Given the description of an element on the screen output the (x, y) to click on. 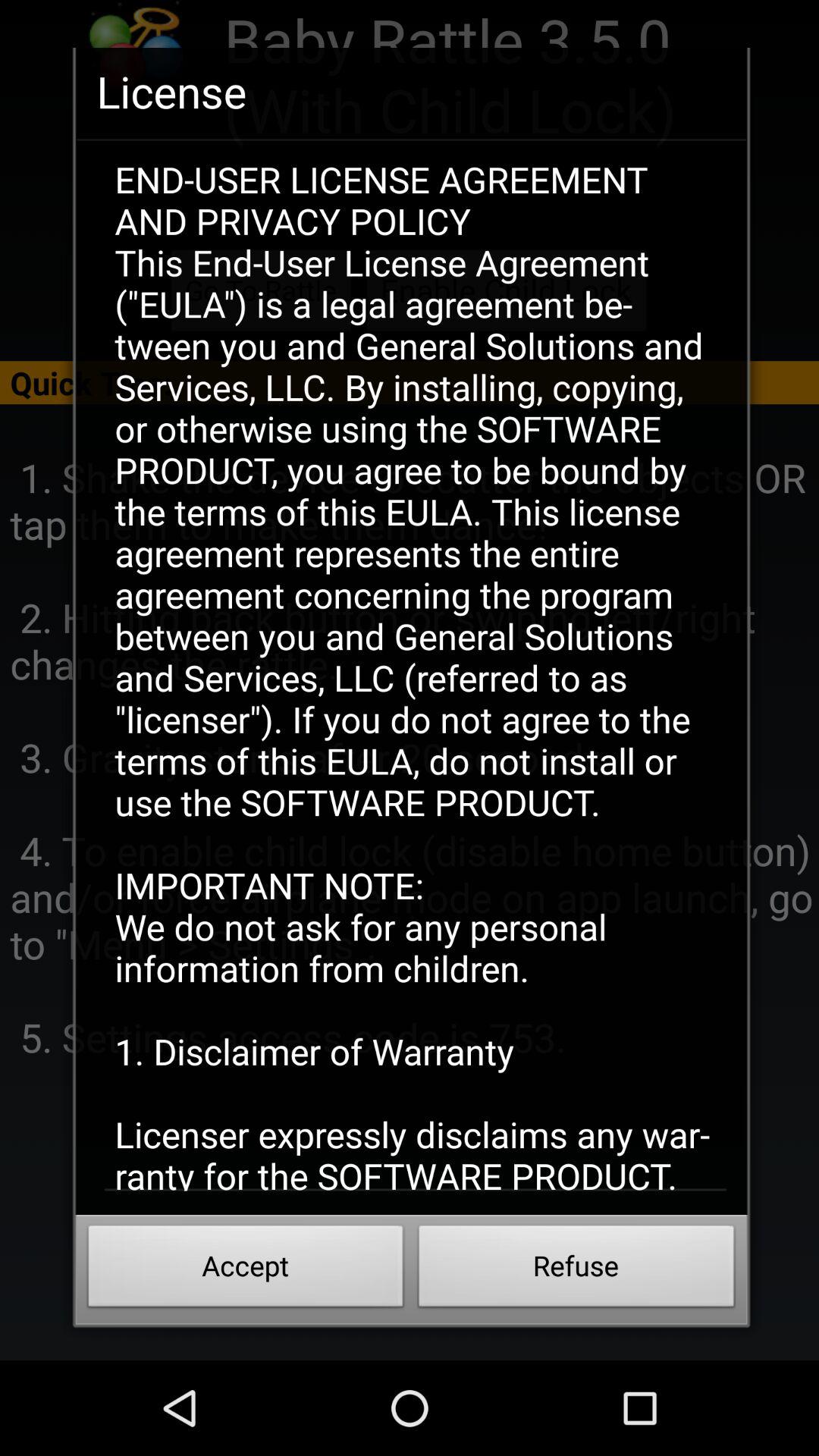
flip to refuse (576, 1270)
